Given the description of an element on the screen output the (x, y) to click on. 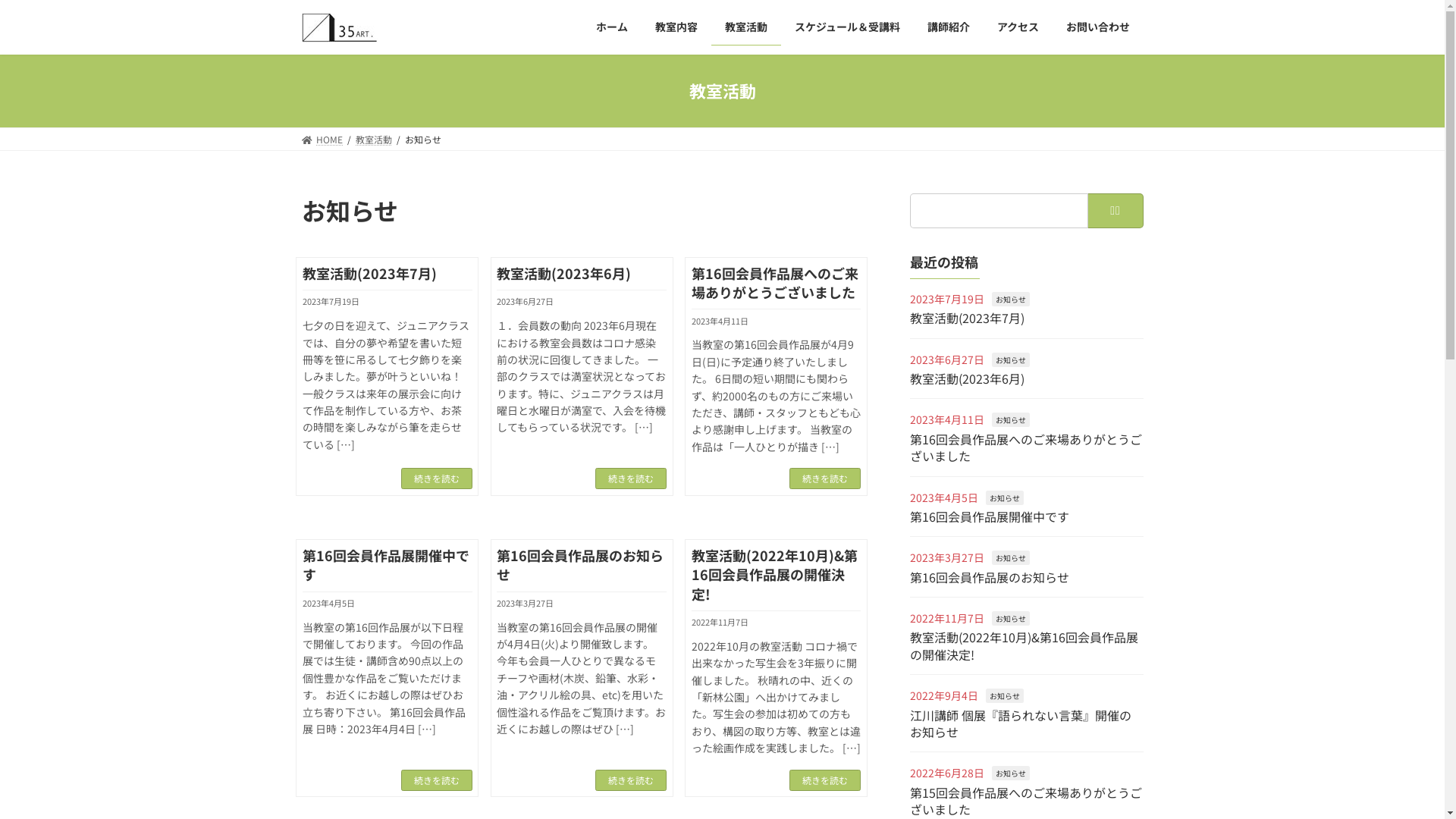
HOME Element type: text (322, 138)
